Given the description of an element on the screen output the (x, y) to click on. 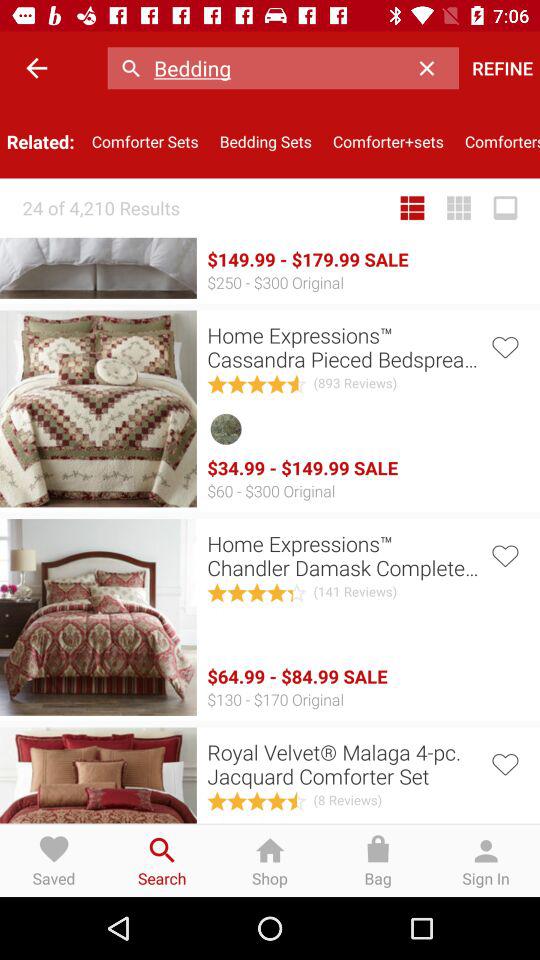
press item above the 149 99 179 icon (412, 208)
